Given the description of an element on the screen output the (x, y) to click on. 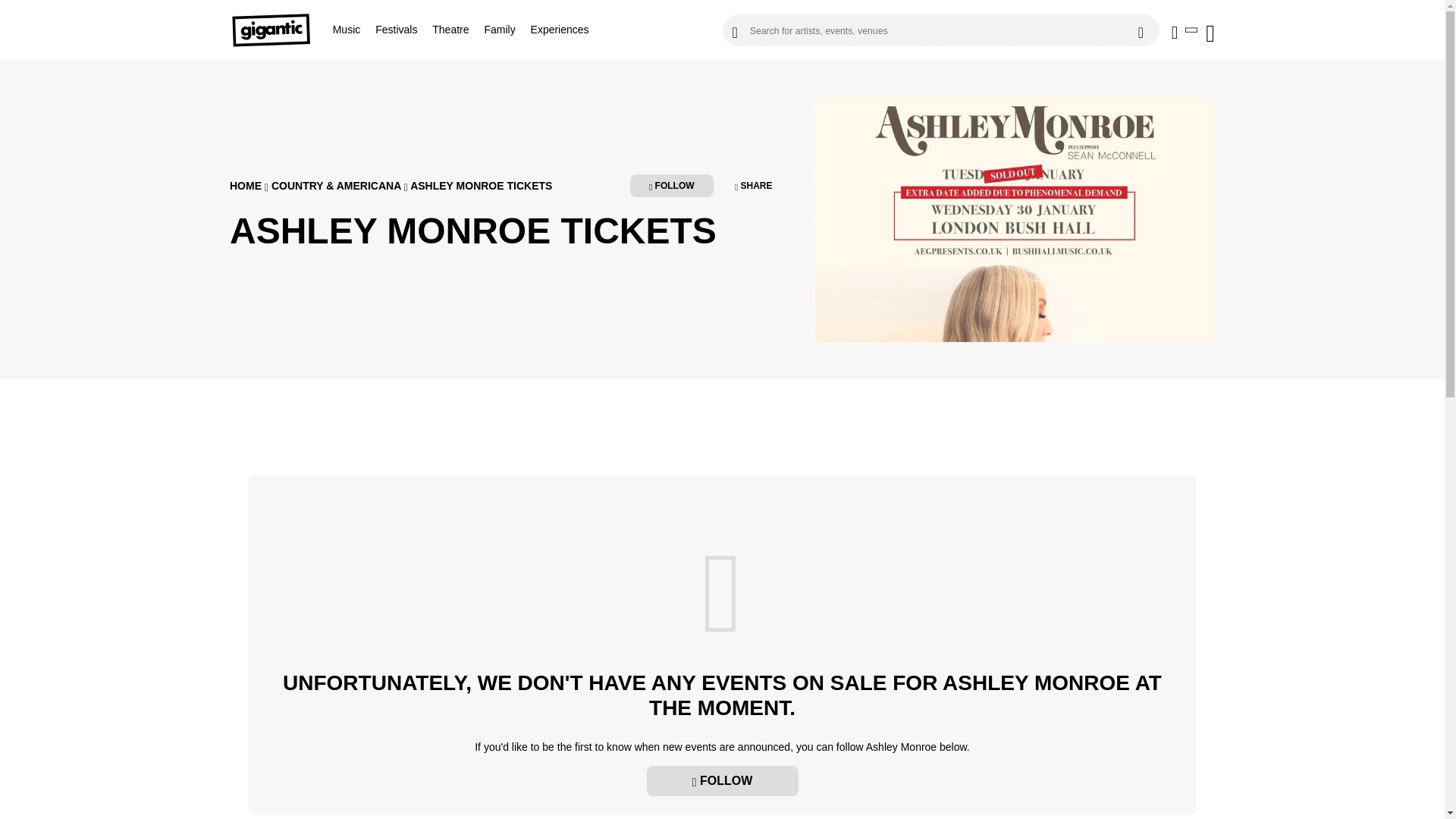
Music (347, 29)
Theatre (450, 29)
Gigantic Tickets: (278, 29)
Festivals (395, 29)
Experiences (560, 29)
Family (499, 29)
FOLLOW (721, 780)
HOME (246, 185)
FOLLOW (671, 185)
